Given the description of an element on the screen output the (x, y) to click on. 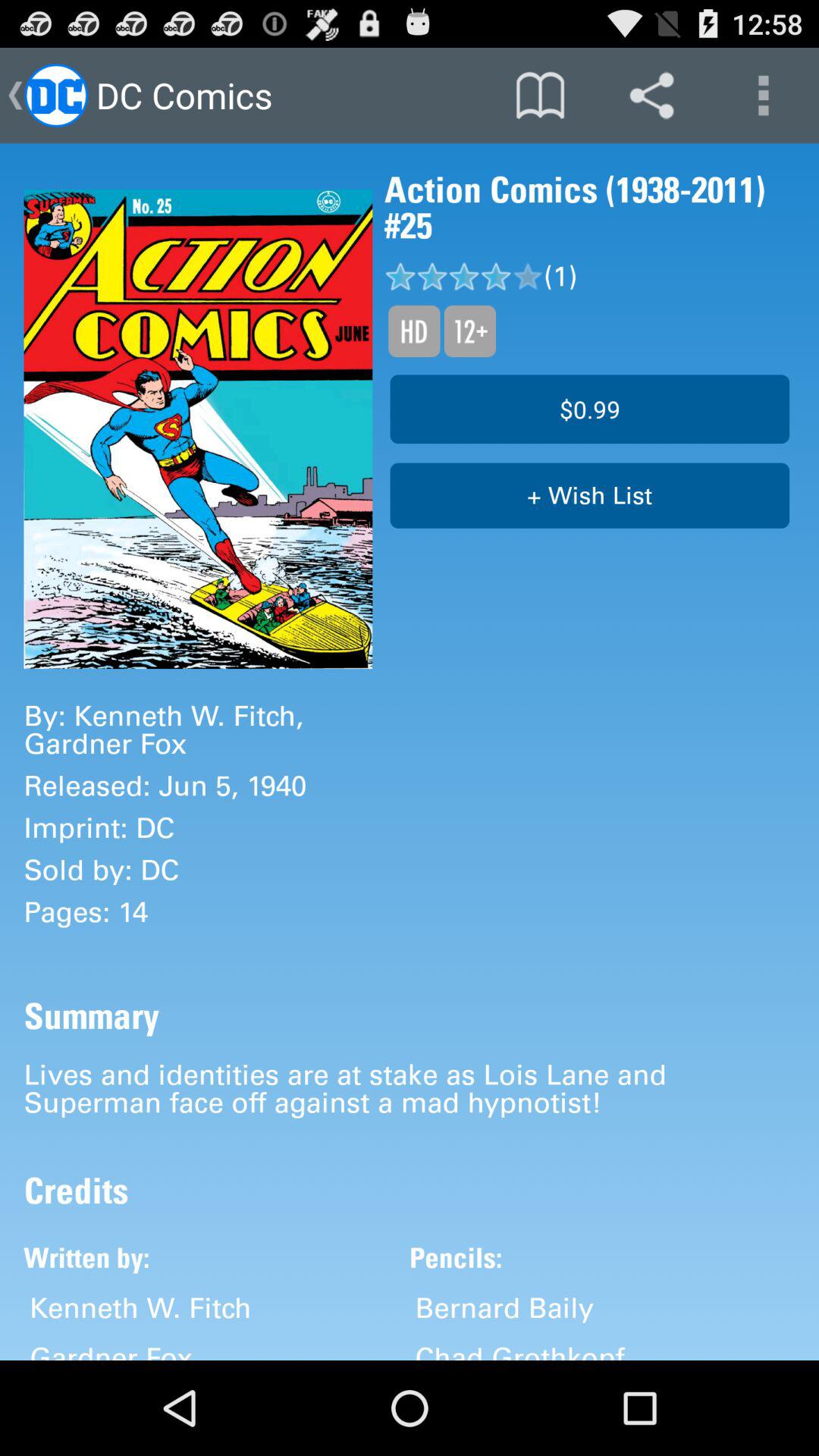
press the item to the right of the kenneth w. fitch item (504, 1308)
